Given the description of an element on the screen output the (x, y) to click on. 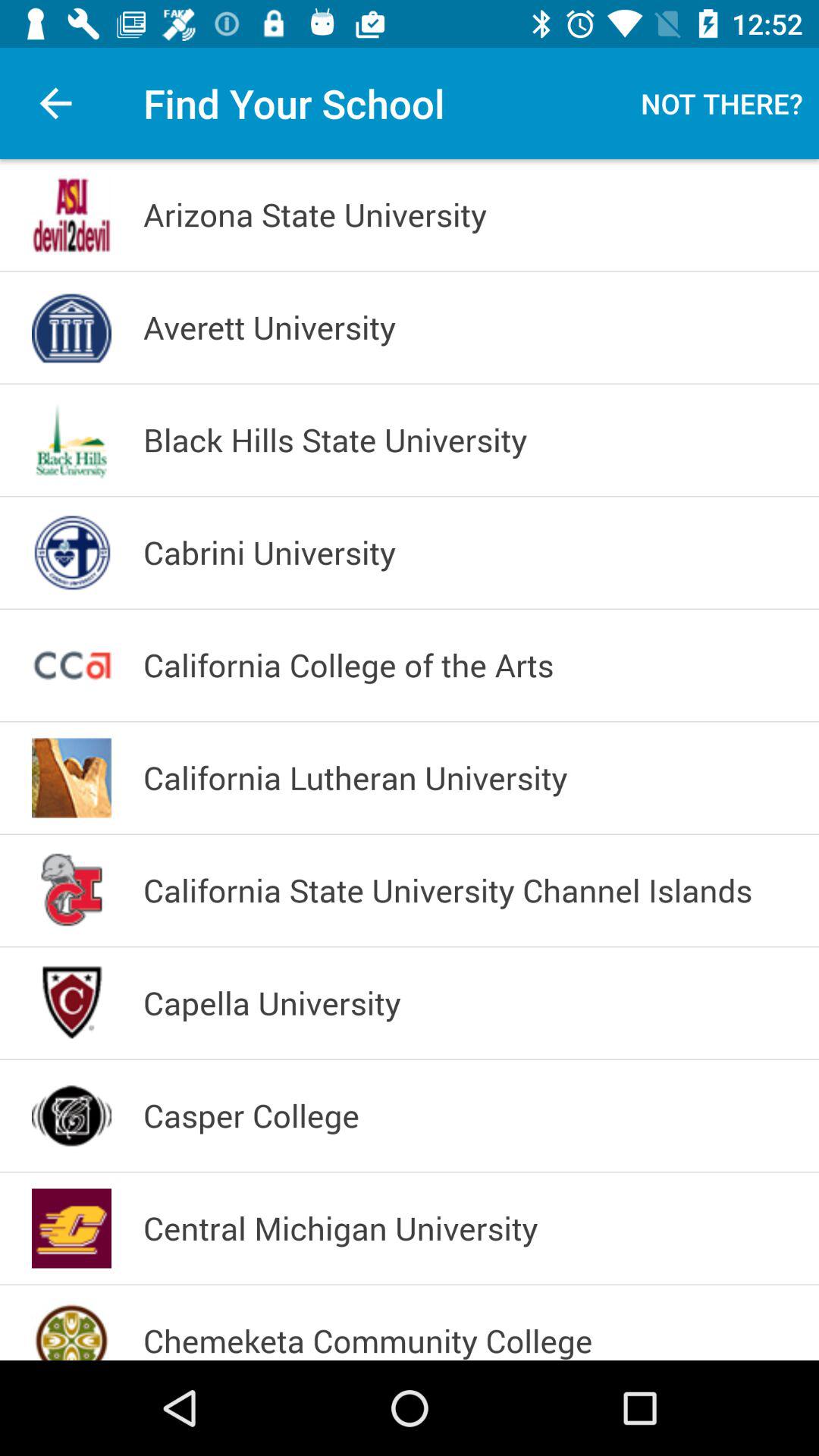
launch item at the top right corner (722, 103)
